Given the description of an element on the screen output the (x, y) to click on. 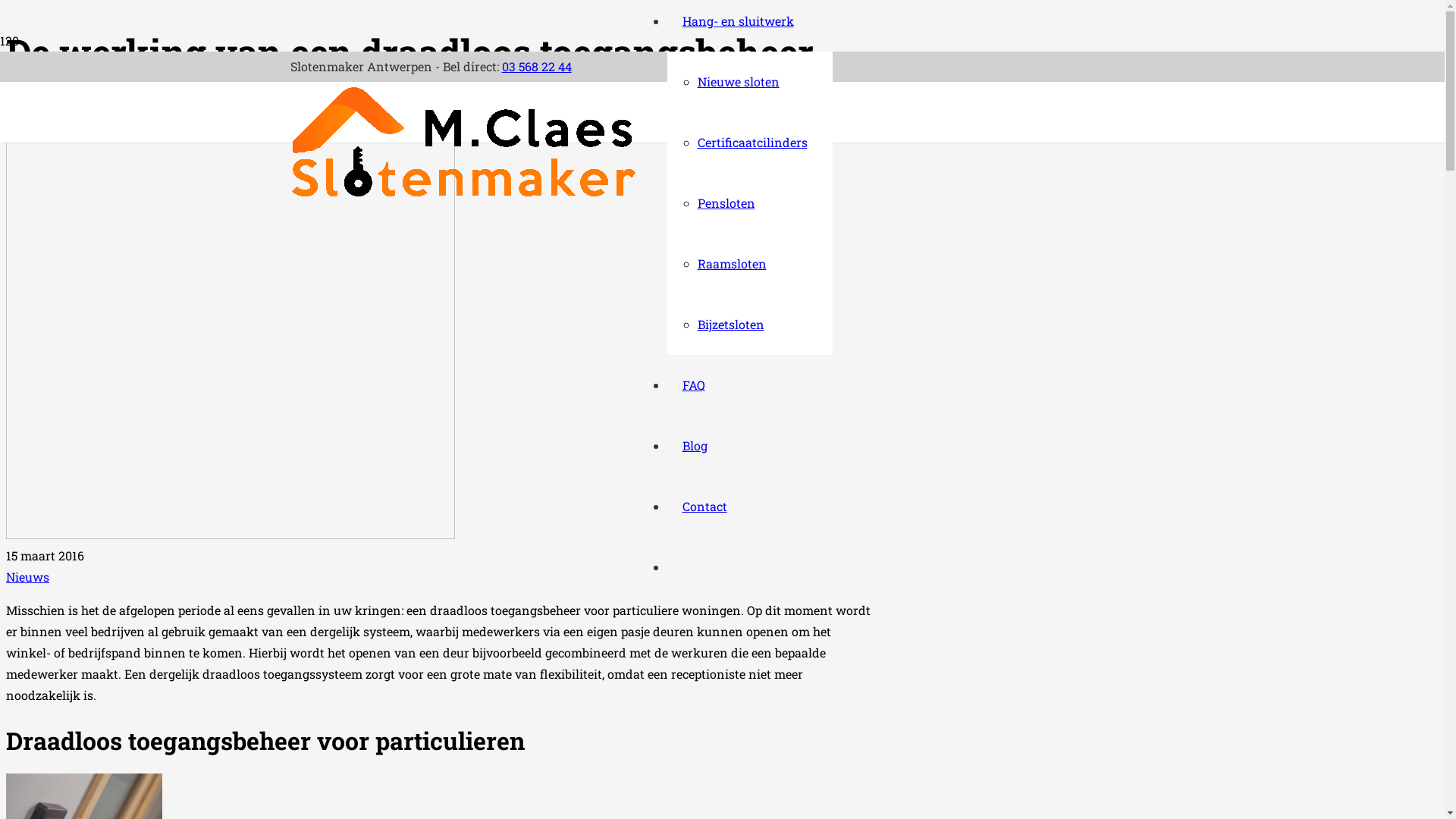
Blog Element type: text (694, 445)
Pensloten Element type: text (726, 202)
FAQ Element type: text (693, 384)
Nieuwe sloten Element type: text (738, 81)
Hang- en sluitwerk Element type: text (738, 20)
Bijzetsloten Element type: text (730, 324)
Certificaatcilinders Element type: text (752, 142)
03 568 22 44 Element type: text (536, 66)
Raamsloten Element type: text (731, 263)
Contact Element type: text (704, 506)
Nieuws Element type: text (27, 576)
